Given the description of an element on the screen output the (x, y) to click on. 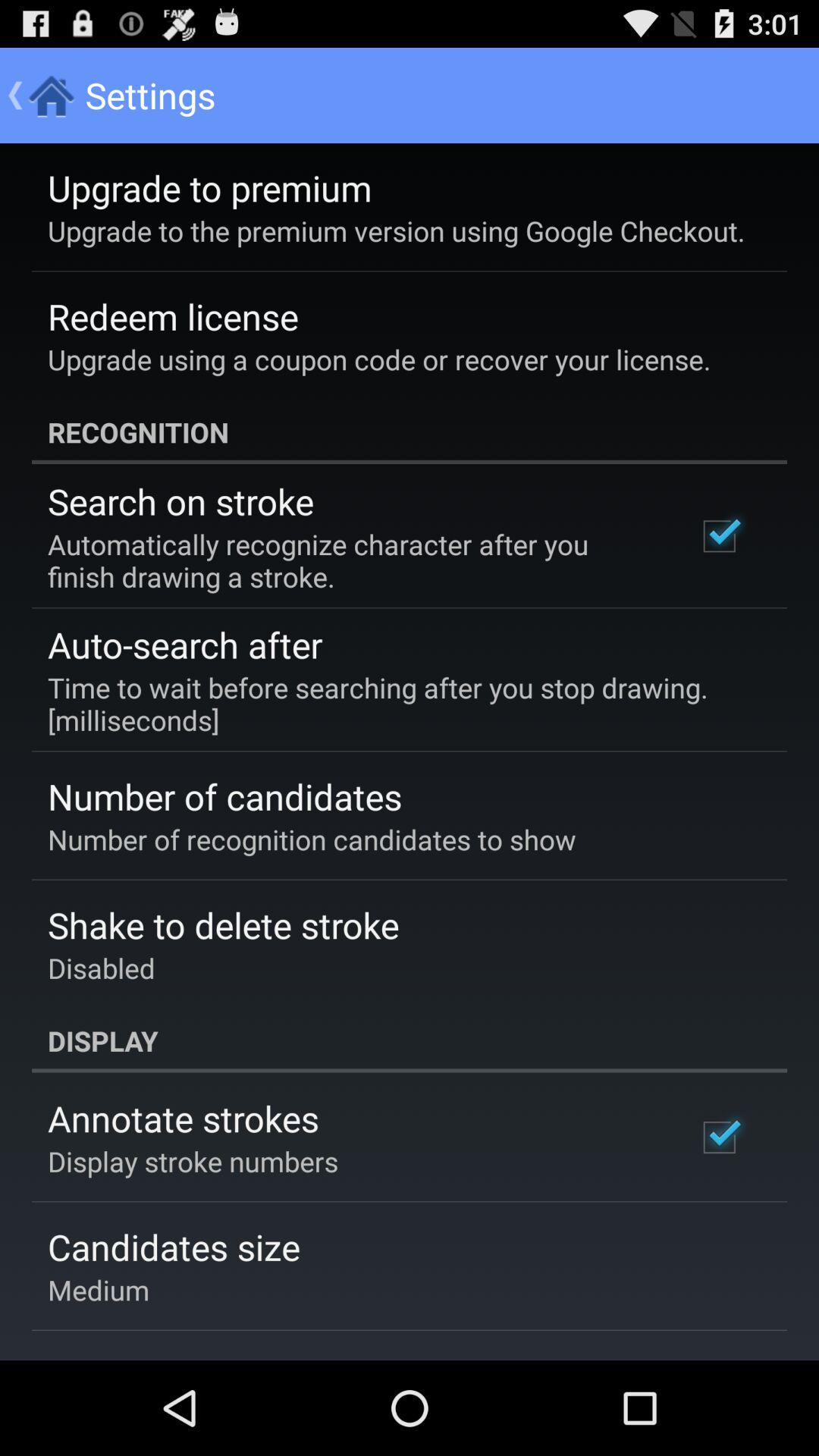
click the auto-search after app (184, 644)
